Given the description of an element on the screen output the (x, y) to click on. 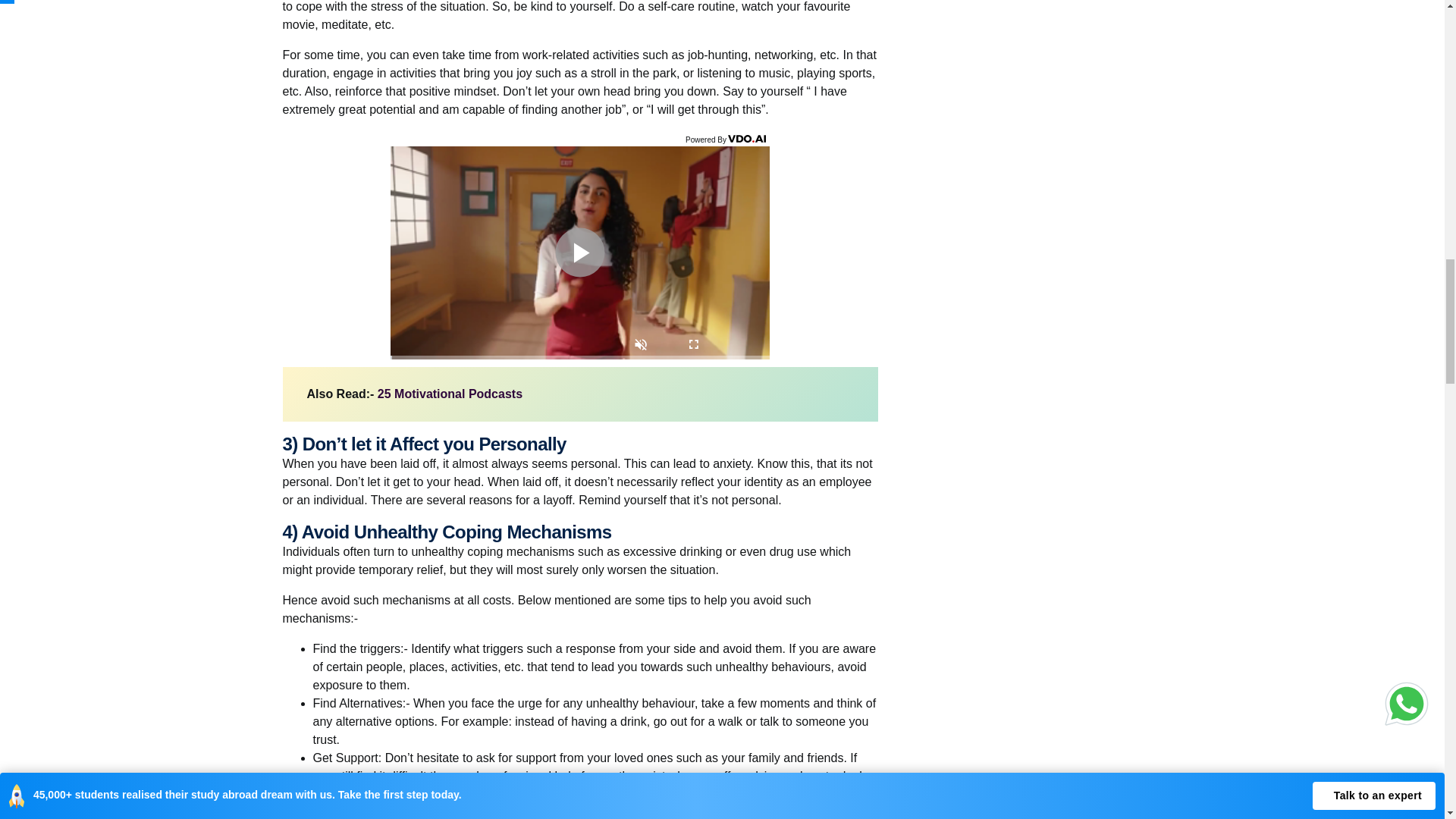
Play (579, 252)
Fullscreen (693, 345)
Unmute (641, 345)
